Given the description of an element on the screen output the (x, y) to click on. 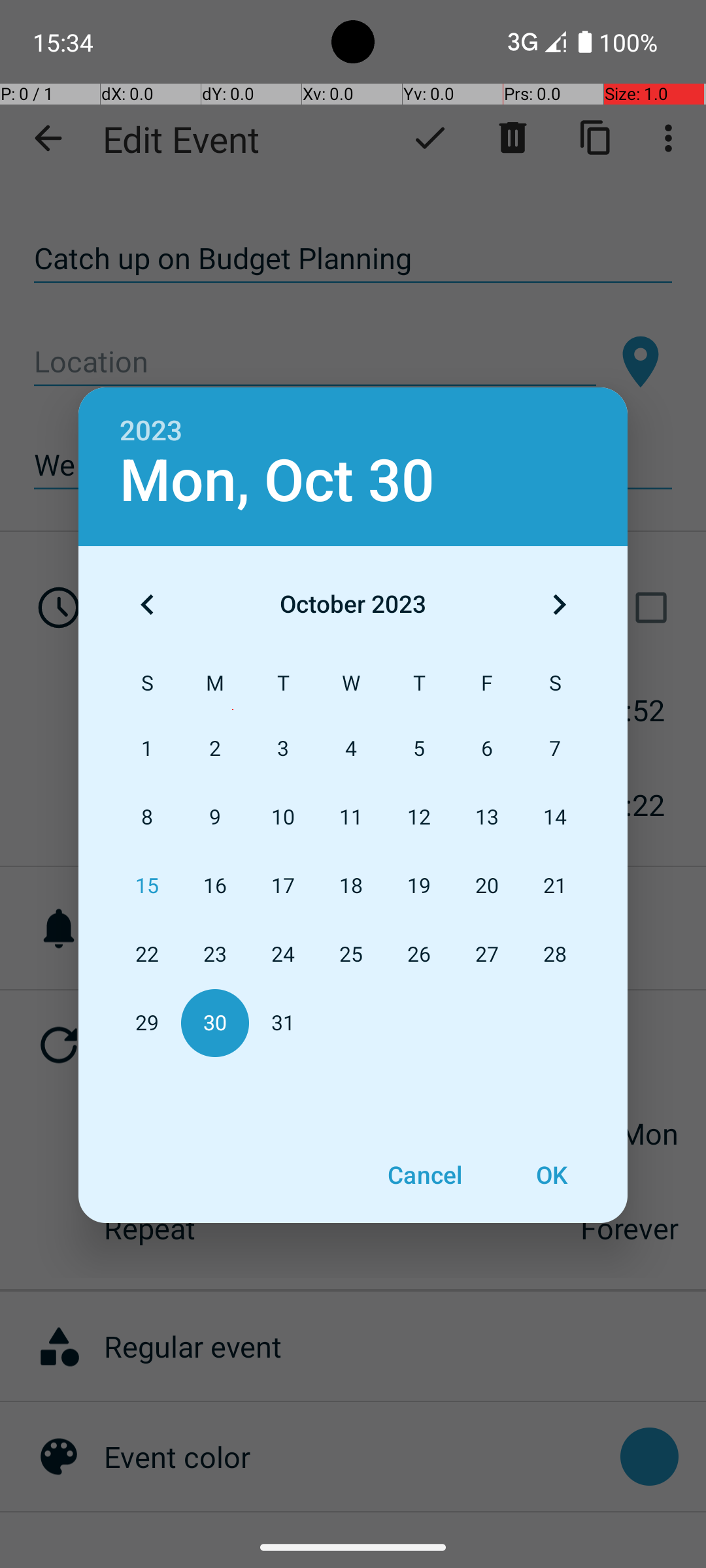
Mon, Oct 30 Element type: android.widget.TextView (276, 480)
